Given the description of an element on the screen output the (x, y) to click on. 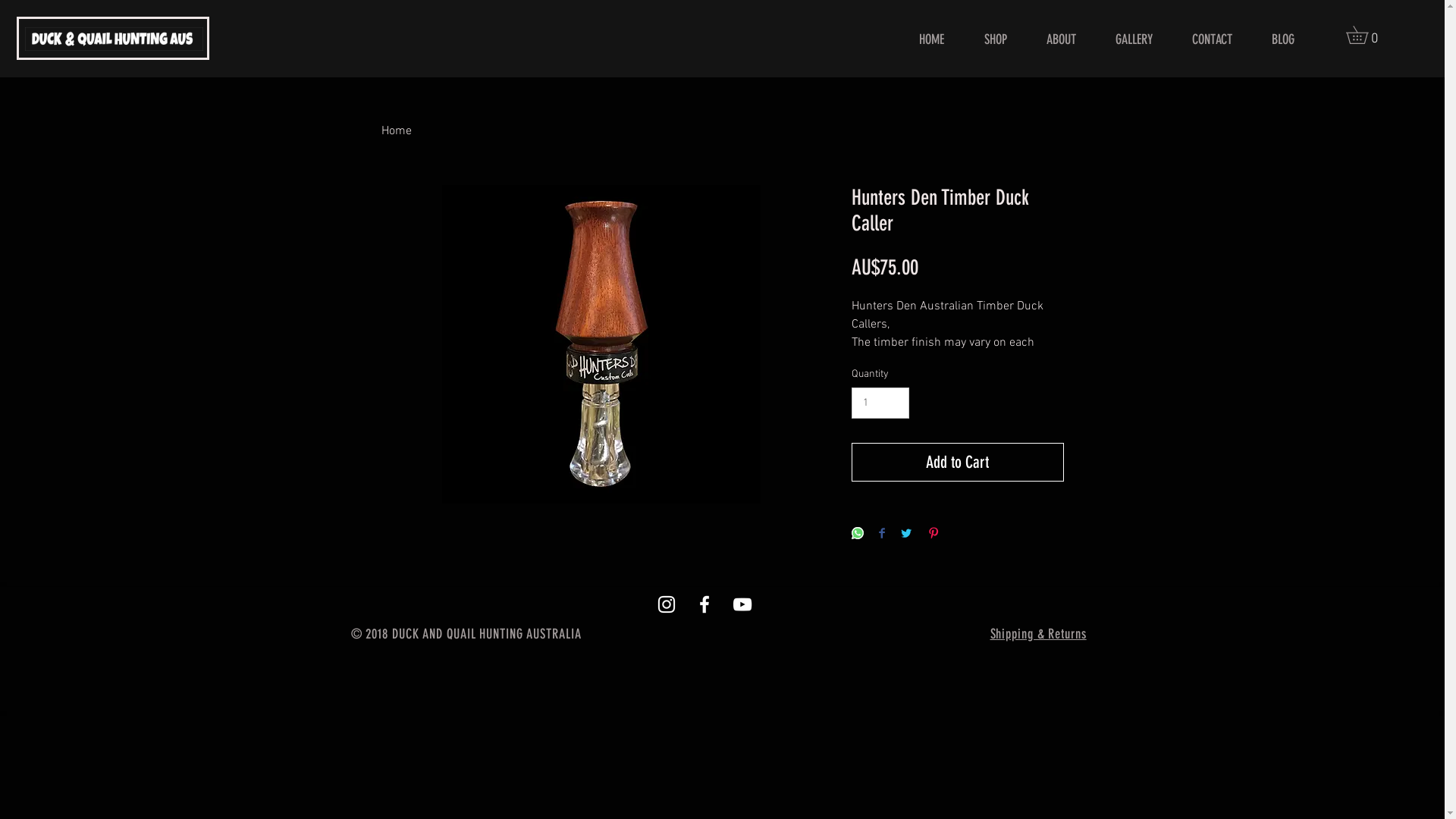
HOME Element type: text (930, 39)
Home Element type: text (395, 130)
BLOG Element type: text (1283, 39)
CONTACT Element type: text (1212, 39)
SHOP Element type: text (994, 39)
0 Element type: text (1365, 34)
ABOUT Element type: text (1060, 39)
Add to Cart Element type: text (956, 461)
Shipping & Returns Element type: text (1038, 635)
GALLERY Element type: text (1133, 39)
